Given the description of an element on the screen output the (x, y) to click on. 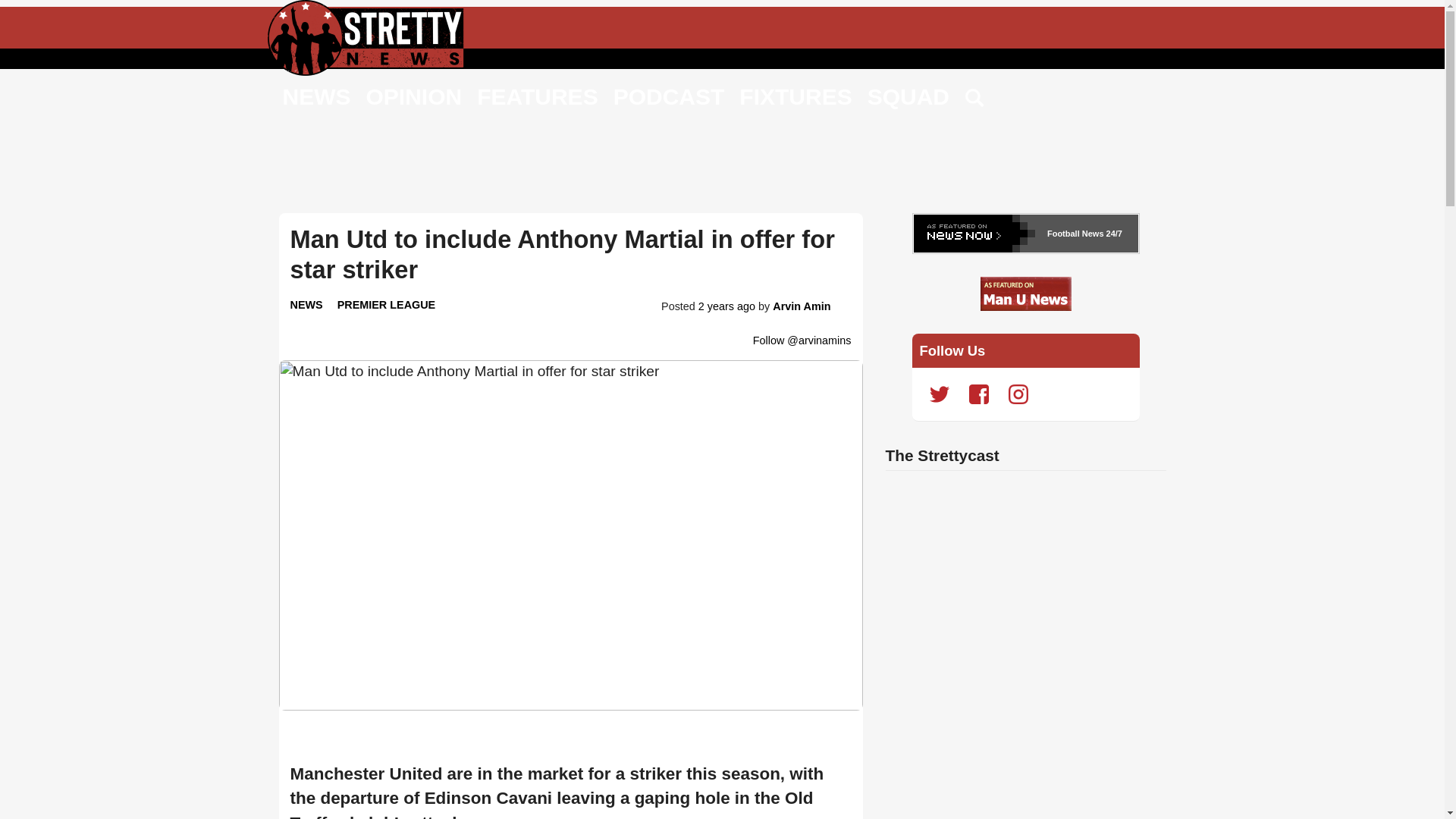
Latest Premier League News (386, 304)
PODCAST (668, 95)
2 years ago (726, 306)
NEWS (316, 95)
PREMIER LEAGUE (386, 304)
Latest News News (305, 304)
Search (975, 98)
OPINION (413, 95)
Arvin Amin (801, 306)
FIXTURES (795, 95)
